Given the description of an element on the screen output the (x, y) to click on. 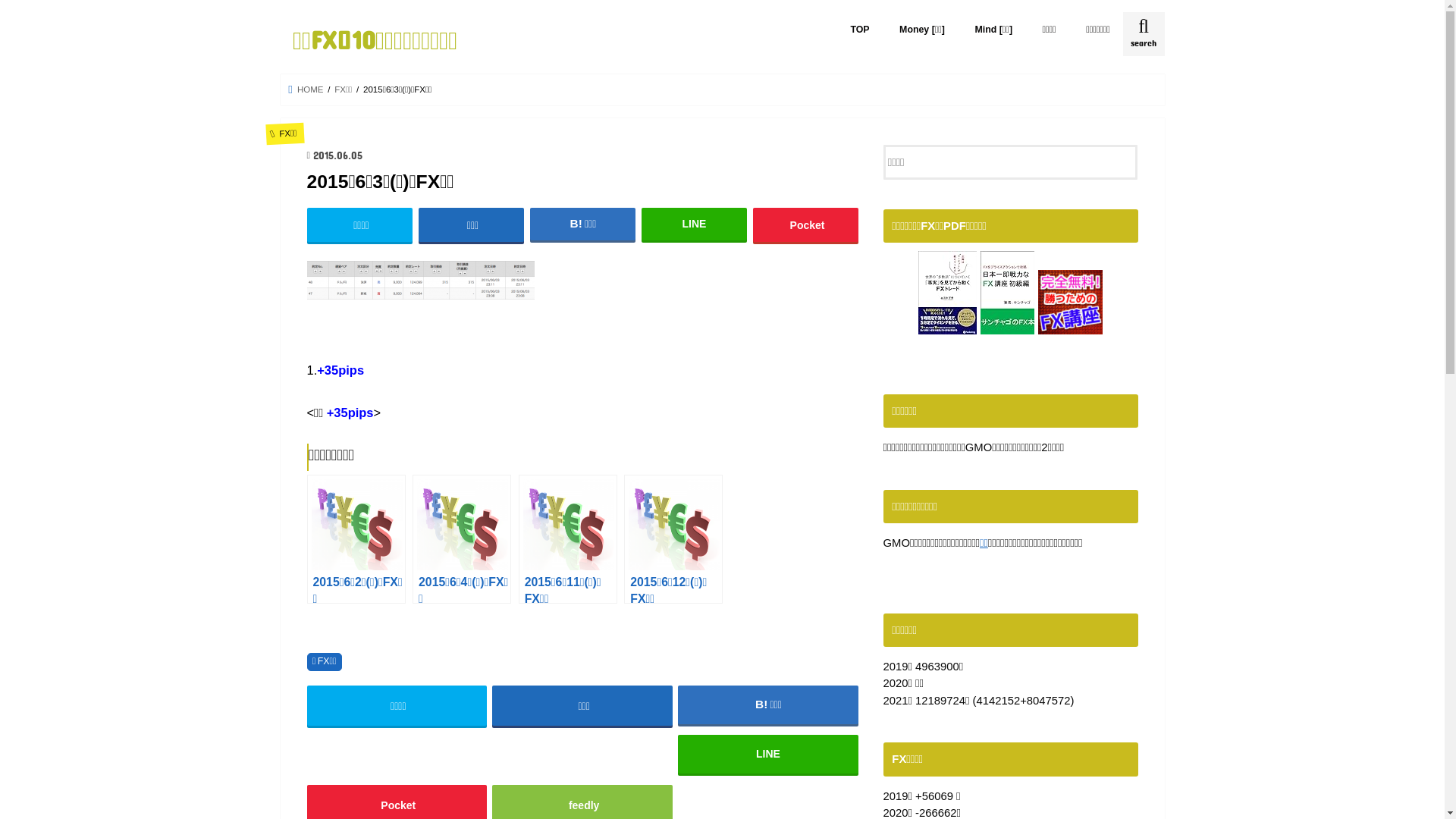
HOME Element type: text (305, 89)
LINE Element type: text (767, 753)
search Element type: text (1143, 34)
Pocket Element type: text (806, 224)
LINE Element type: text (694, 223)
TOP Element type: text (859, 28)
